Given the description of an element on the screen output the (x, y) to click on. 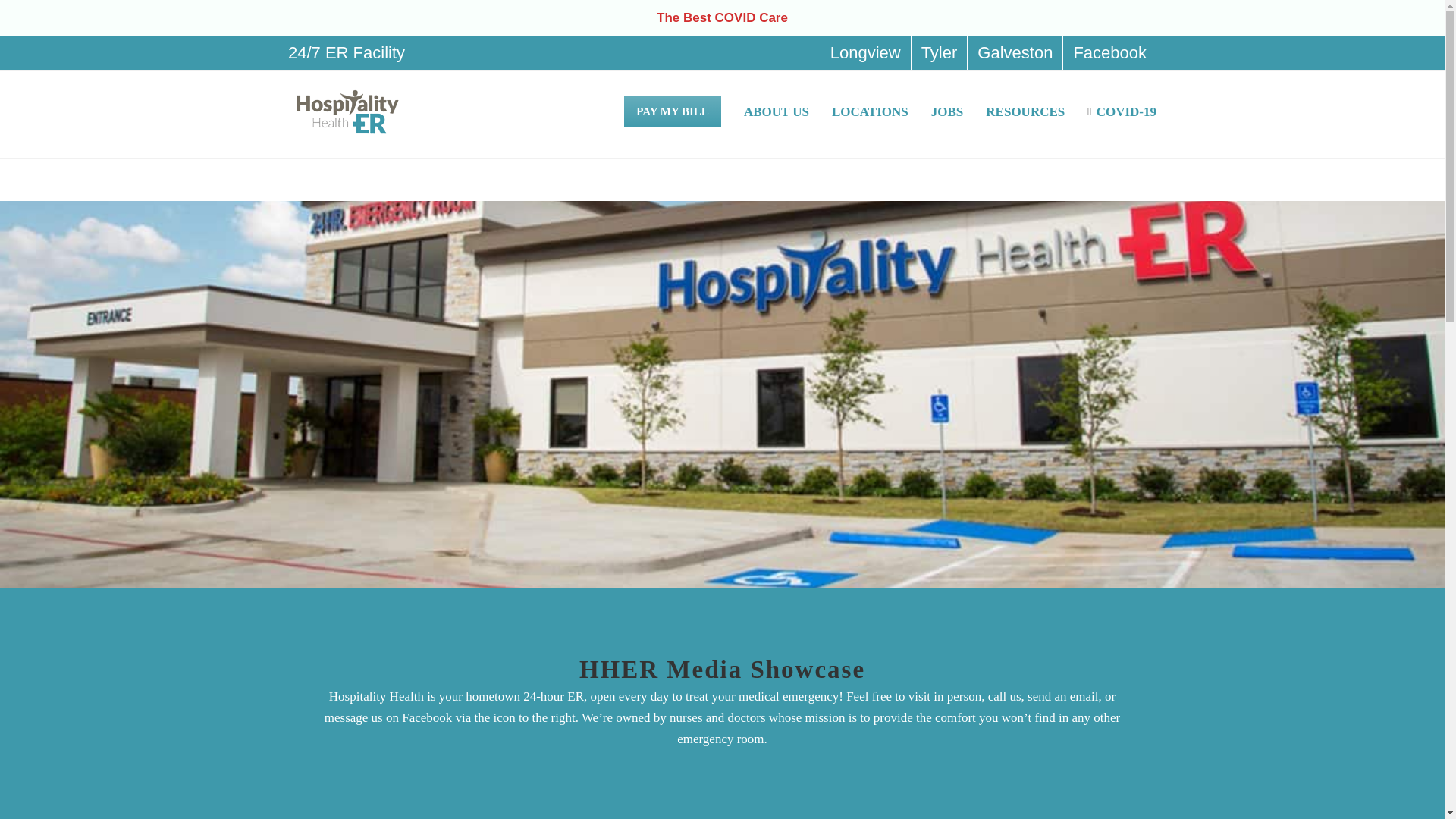
Facebook (1109, 52)
The Best COVID Care (721, 17)
Galveston (1015, 52)
Tyler (939, 52)
ABOUT US (776, 110)
Longview (866, 52)
JOBS (947, 110)
COVID-19 (1121, 110)
RESOURCES (1024, 110)
PAY MY BILL (672, 110)
LOCATIONS (869, 110)
